Given the description of an element on the screen output the (x, y) to click on. 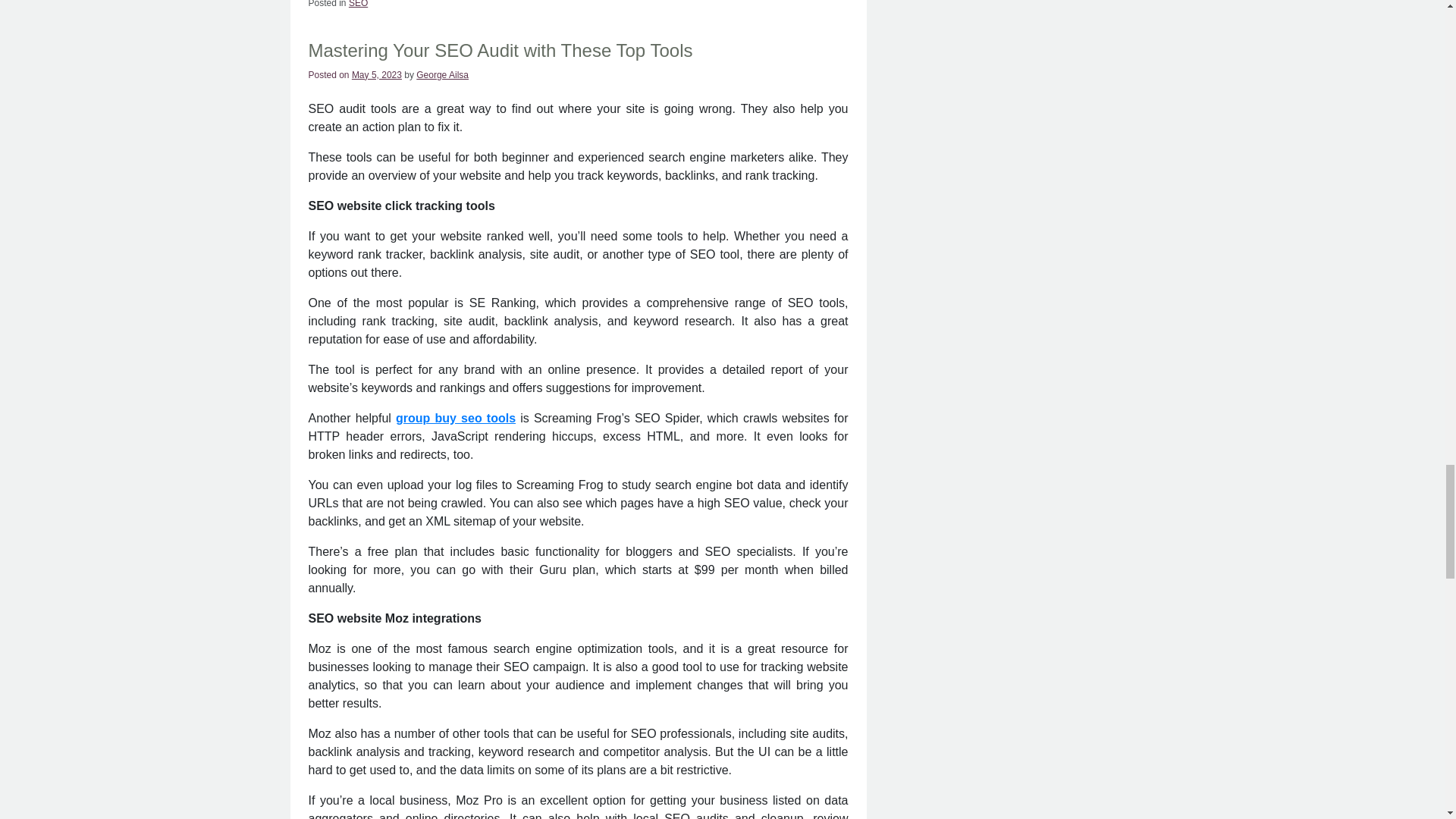
Mastering Your SEO Audit with These Top Tools (500, 50)
SEO (358, 4)
May 5, 2023 (376, 74)
George Ailsa (442, 74)
group buy seo tools (455, 418)
